Given the description of an element on the screen output the (x, y) to click on. 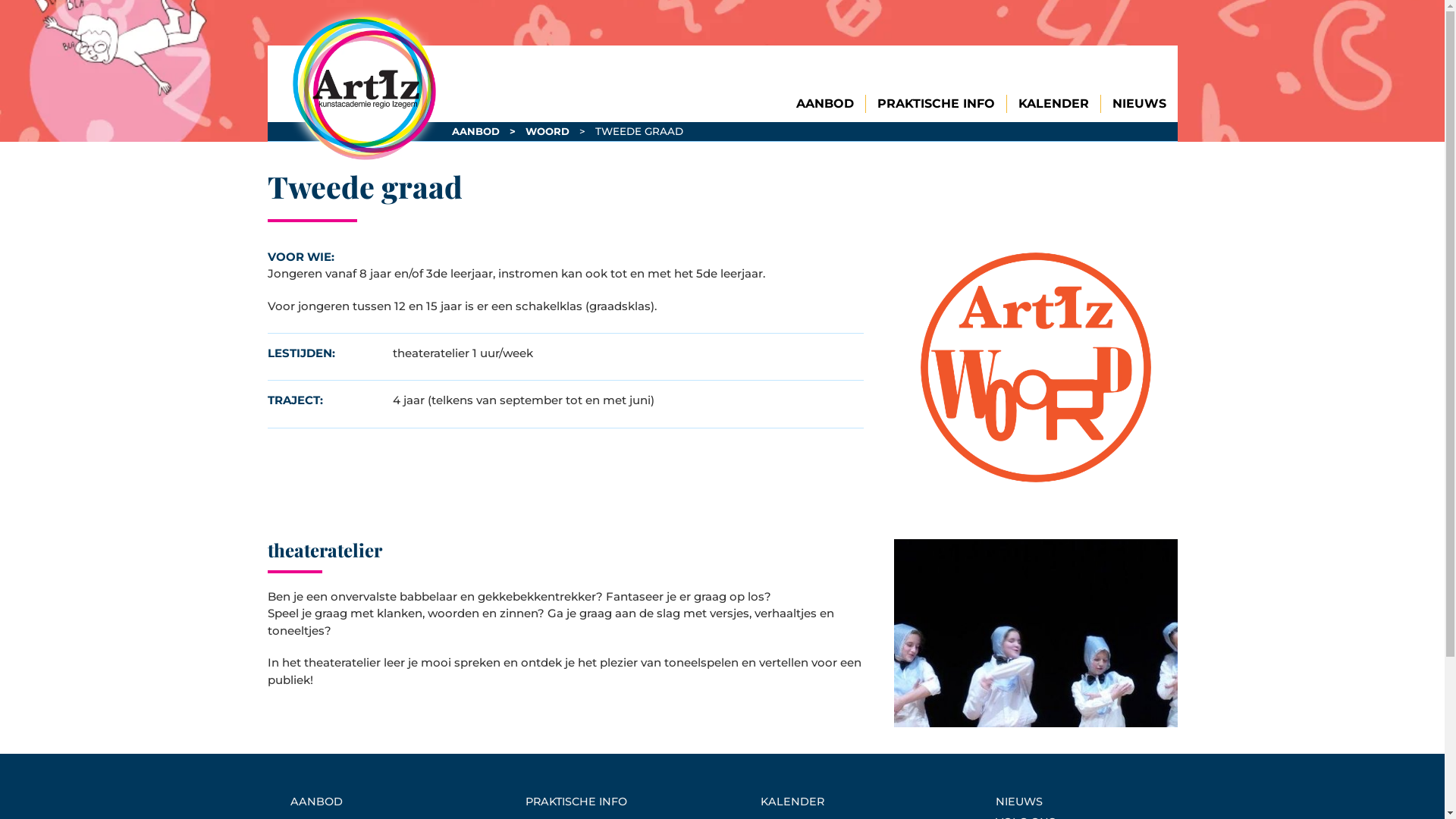
AANBOD Element type: text (475, 131)
PRAKTISCHE INFO Element type: text (935, 103)
PRAKTISCHE INFO Element type: text (615, 802)
KALENDER Element type: text (850, 802)
AANBOD Element type: text (380, 802)
KALENDER Element type: text (1052, 103)
AANBOD Element type: text (824, 103)
WOORD Element type: text (547, 131)
NIEUWS Element type: text (1085, 802)
NIEUWS Element type: text (1138, 103)
